Given the description of an element on the screen output the (x, y) to click on. 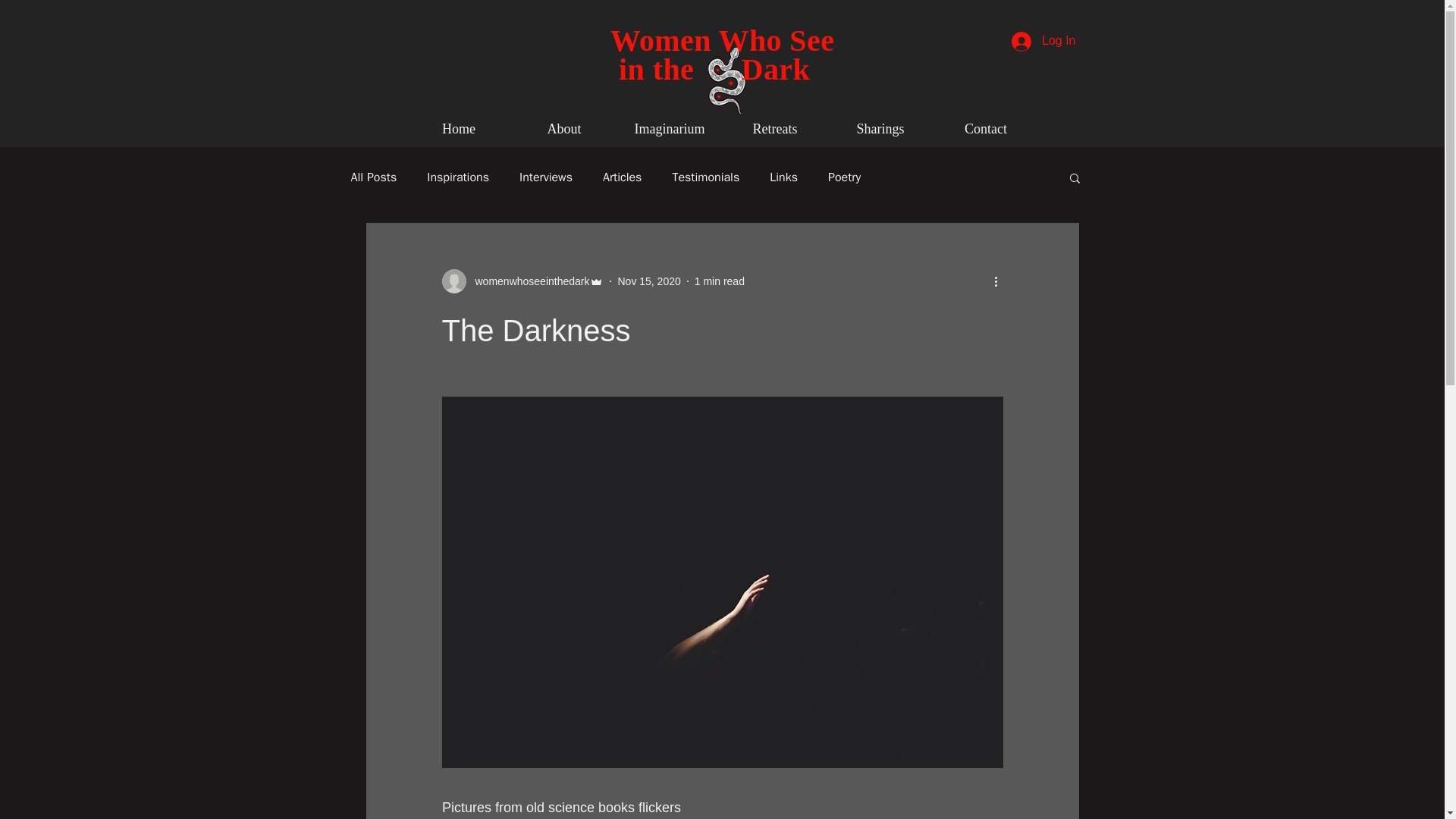
womenwhoseeinthedark (522, 281)
in the      Dark   (721, 69)
Testimonials (705, 177)
Women  (664, 40)
All Posts (373, 177)
Articles (622, 177)
Poetry (844, 177)
Contact (985, 128)
Interviews (545, 177)
womenwhoseeinthedark (527, 280)
Home (459, 128)
Imaginarium (669, 128)
Log In (1043, 41)
About (563, 128)
1 min read (719, 280)
